Given the description of an element on the screen output the (x, y) to click on. 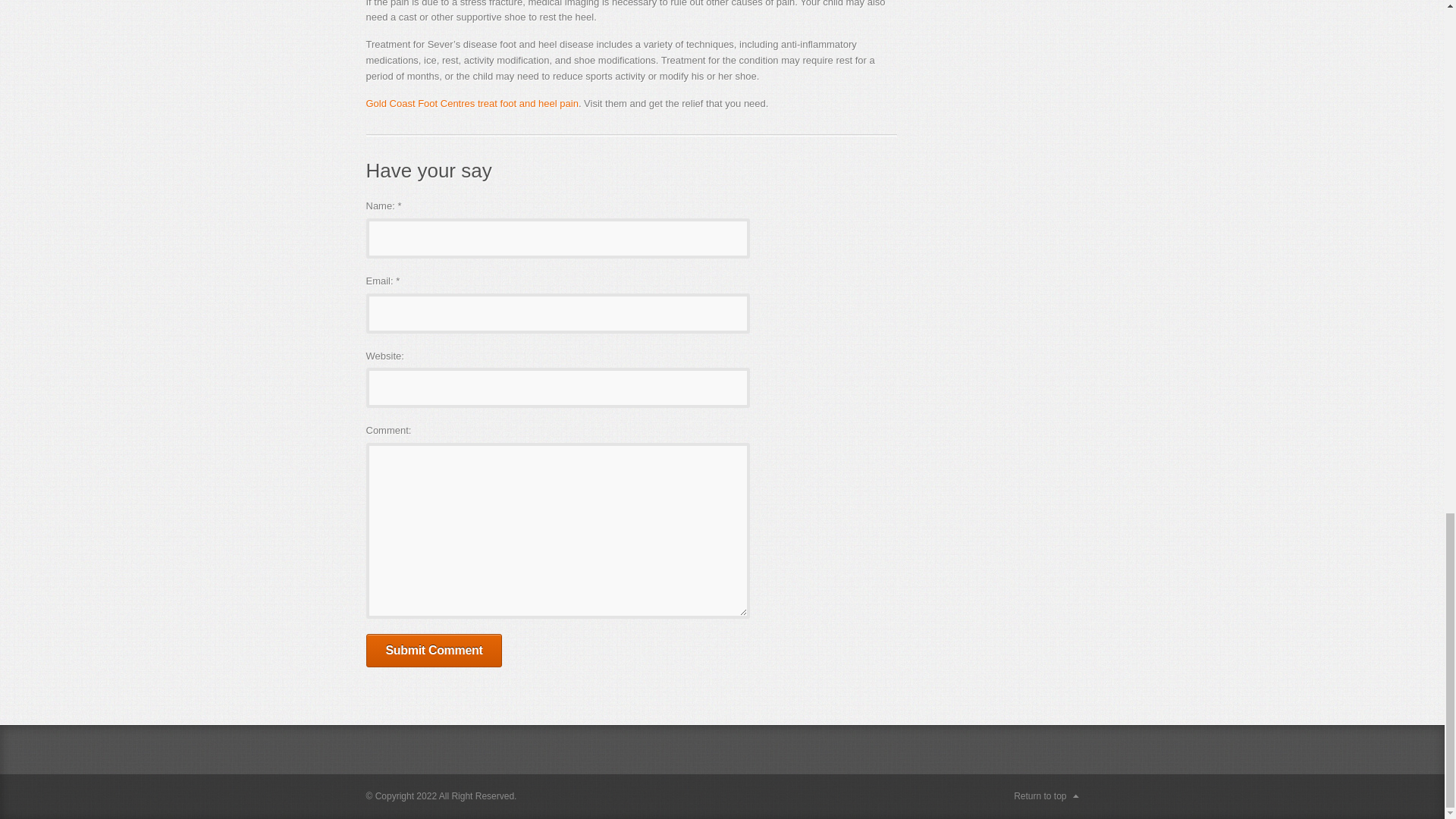
Gold Coast Foot Centres treat foot and heel pain (471, 102)
Submit Comment (433, 650)
Return to top (1045, 796)
Submit Comment (433, 650)
